Given the description of an element on the screen output the (x, y) to click on. 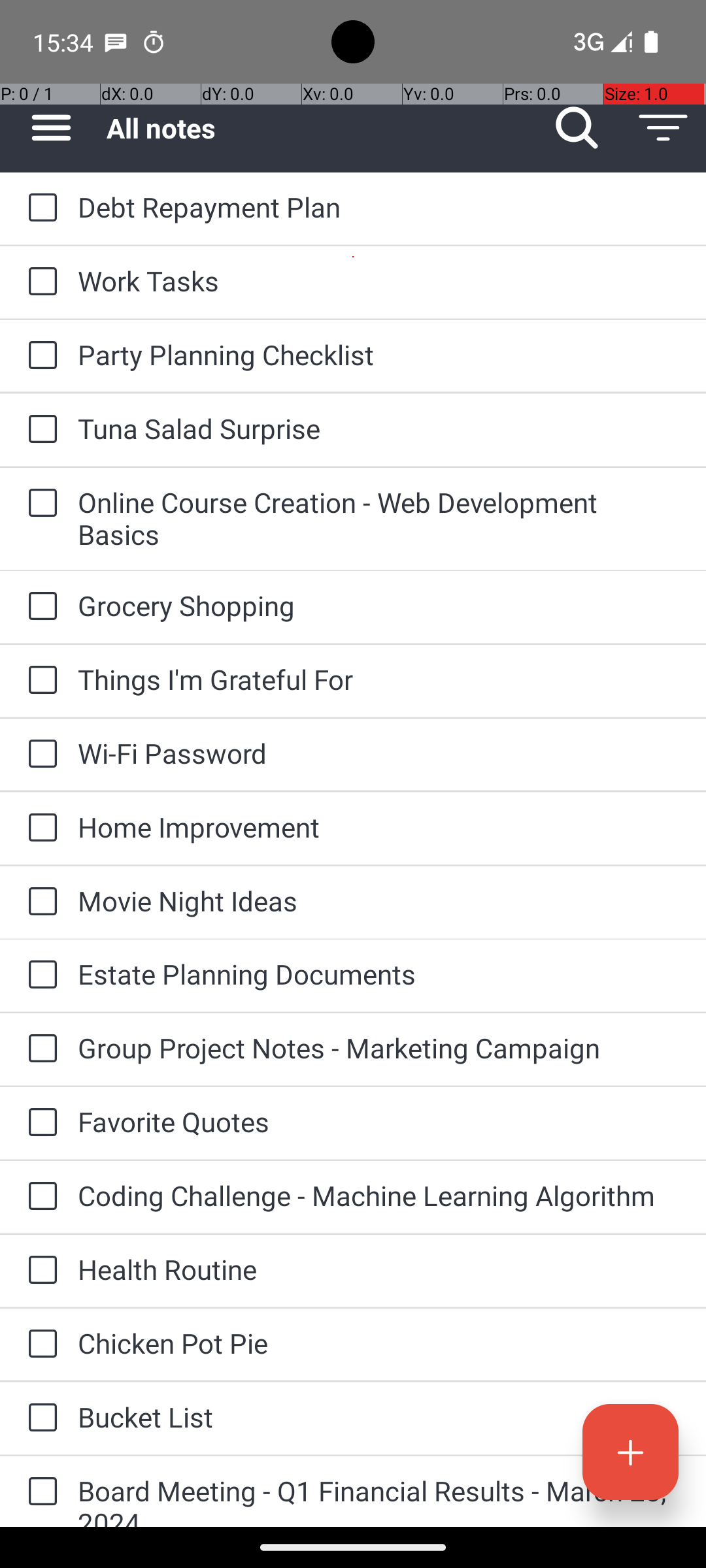
to-do: Debt Repayment Plan Element type: android.widget.CheckBox (38, 208)
Debt Repayment Plan Element type: android.widget.TextView (378, 206)
to-do: Work Tasks Element type: android.widget.CheckBox (38, 282)
Work Tasks Element type: android.widget.TextView (378, 280)
to-do: Party Planning Checklist Element type: android.widget.CheckBox (38, 356)
Party Planning Checklist Element type: android.widget.TextView (378, 354)
to-do: Tuna Salad Surprise Element type: android.widget.CheckBox (38, 429)
Tuna Salad Surprise Element type: android.widget.TextView (378, 427)
to-do: Grocery Shopping Element type: android.widget.CheckBox (38, 606)
to-do: Things I'm Grateful For Element type: android.widget.CheckBox (38, 680)
Things I'm Grateful For Element type: android.widget.TextView (378, 678)
to-do: Wi-Fi Password Element type: android.widget.CheckBox (38, 754)
Wi-Fi Password Element type: android.widget.TextView (378, 752)
to-do: Home Improvement Element type: android.widget.CheckBox (38, 828)
Home Improvement Element type: android.widget.TextView (378, 826)
to-do: Movie Night Ideas Element type: android.widget.CheckBox (38, 902)
Movie Night Ideas Element type: android.widget.TextView (378, 900)
to-do: Estate Planning Documents Element type: android.widget.CheckBox (38, 975)
Estate Planning Documents Element type: android.widget.TextView (378, 973)
to-do: Favorite Quotes Element type: android.widget.CheckBox (38, 1123)
Favorite Quotes Element type: android.widget.TextView (378, 1121)
to-do: Health Routine Element type: android.widget.CheckBox (38, 1270)
Health Routine Element type: android.widget.TextView (378, 1268)
to-do: Chicken Pot Pie Element type: android.widget.CheckBox (38, 1344)
Chicken Pot Pie Element type: android.widget.TextView (378, 1342)
to-do: Bucket List Element type: android.widget.CheckBox (38, 1418)
Bucket List Element type: android.widget.TextView (378, 1416)
